Given the description of an element on the screen output the (x, y) to click on. 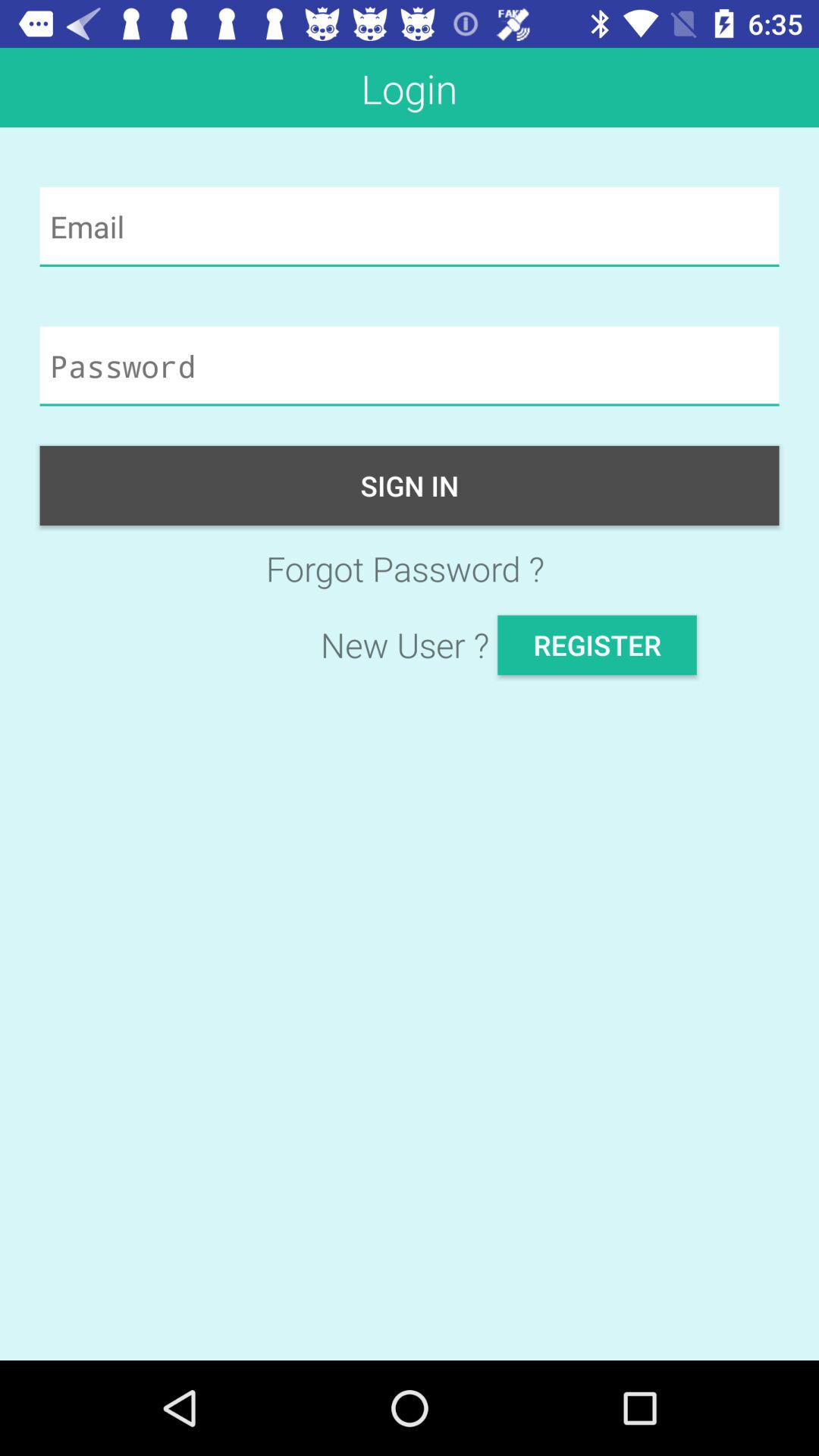
select item above forgot password ?  icon (409, 485)
